Given the description of an element on the screen output the (x, y) to click on. 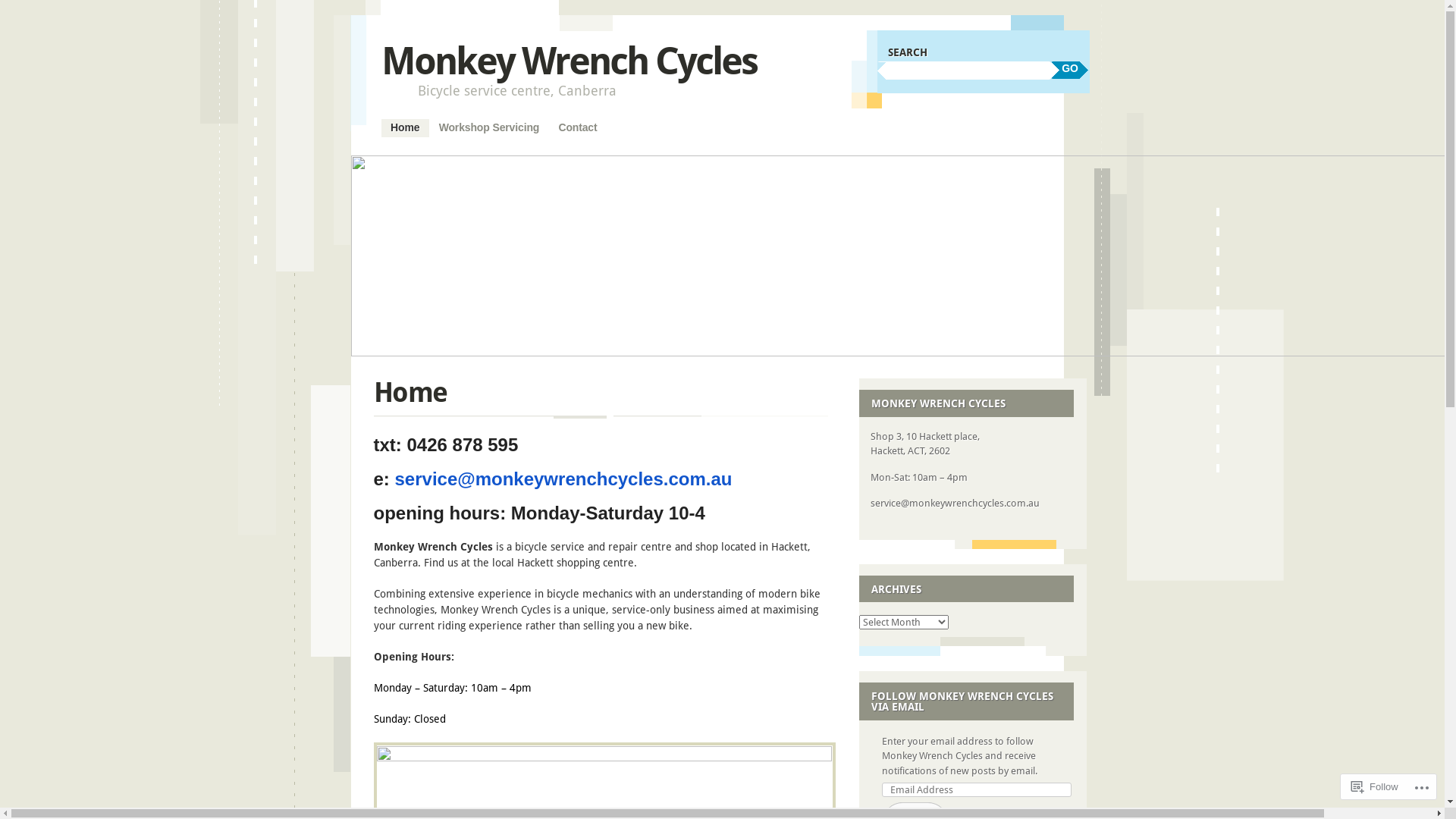
Home Element type: text (404, 128)
Workshop Servicing Element type: text (489, 128)
Skip to content Element type: text (419, 126)
Contact Element type: text (577, 128)
Follow Element type: text (1374, 786)
Monkey Wrench Cycles Element type: text (568, 60)
GO Element type: text (1069, 69)
service@monkeywrenchcycles.com.au Element type: text (563, 481)
